Given the description of an element on the screen output the (x, y) to click on. 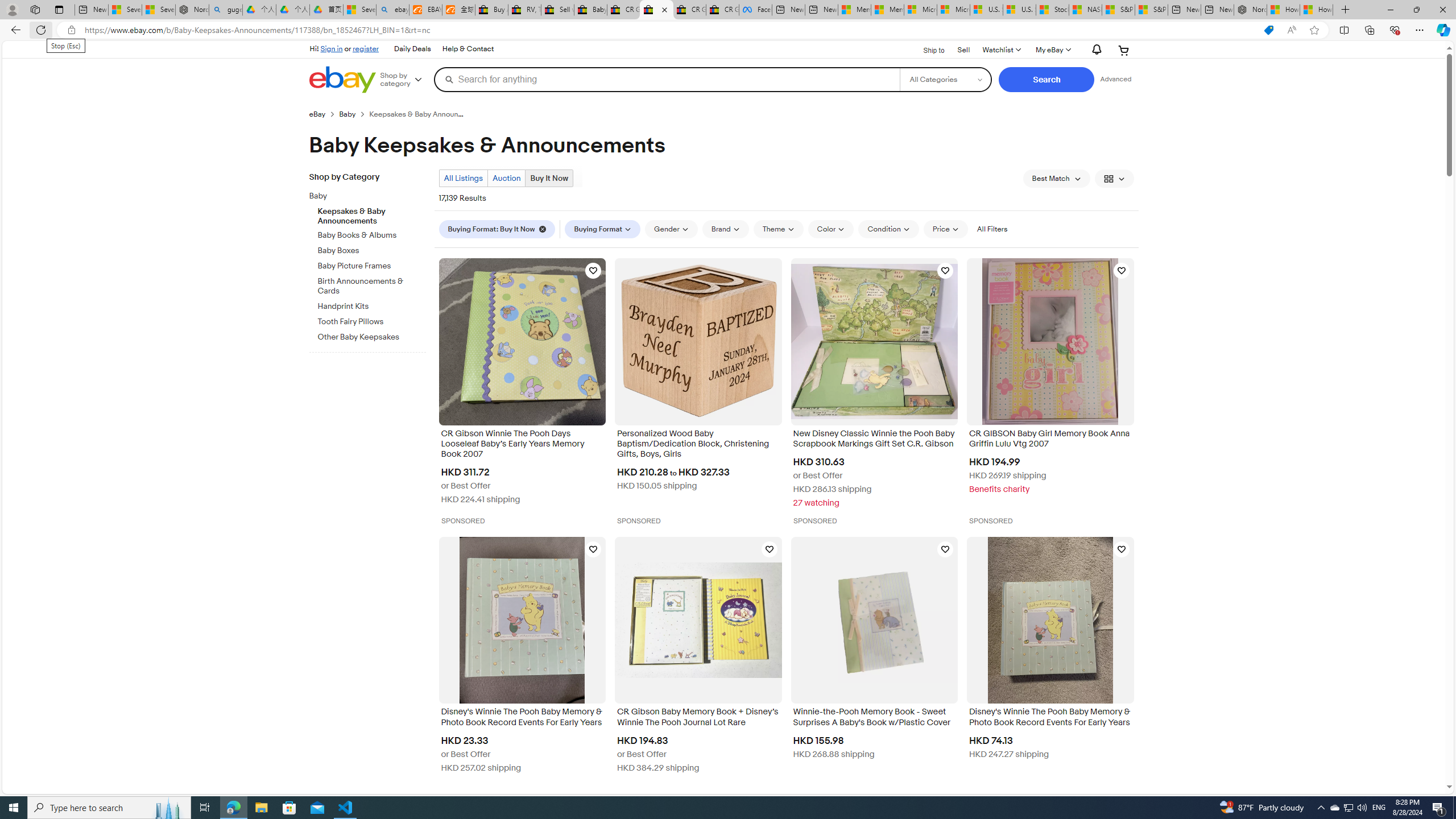
Handprint Kits (371, 306)
Minimize (1390, 9)
Baby Keepsakes & Announcements for sale | eBay (656, 9)
Advanced Search (1115, 78)
Ship to (926, 50)
Buy It Now Current view (548, 178)
Buying Format (602, 229)
Price (945, 229)
eBay (323, 113)
Facebook (755, 9)
Gender (671, 229)
